Given the description of an element on the screen output the (x, y) to click on. 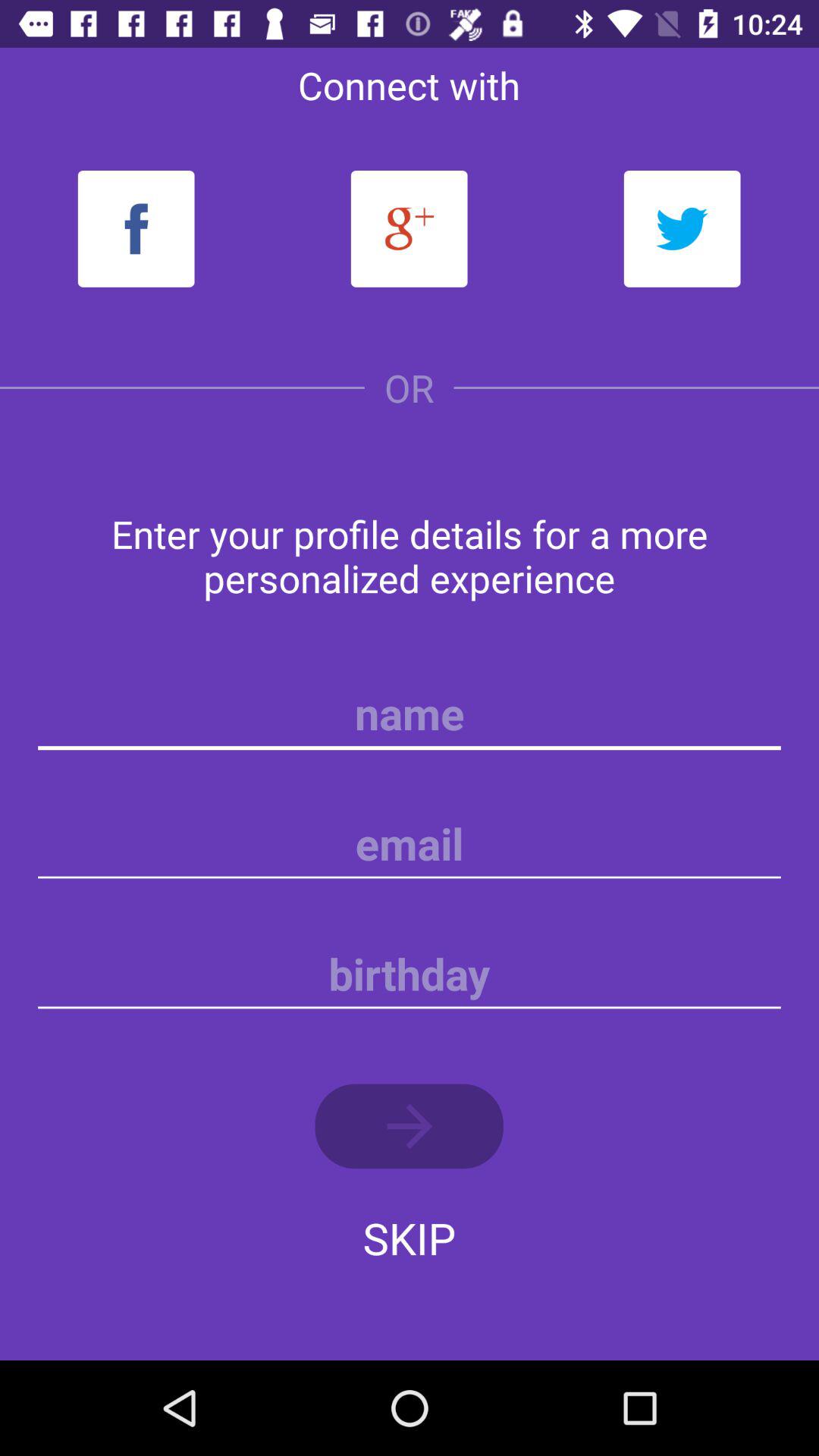
add a note (409, 974)
